Given the description of an element on the screen output the (x, y) to click on. 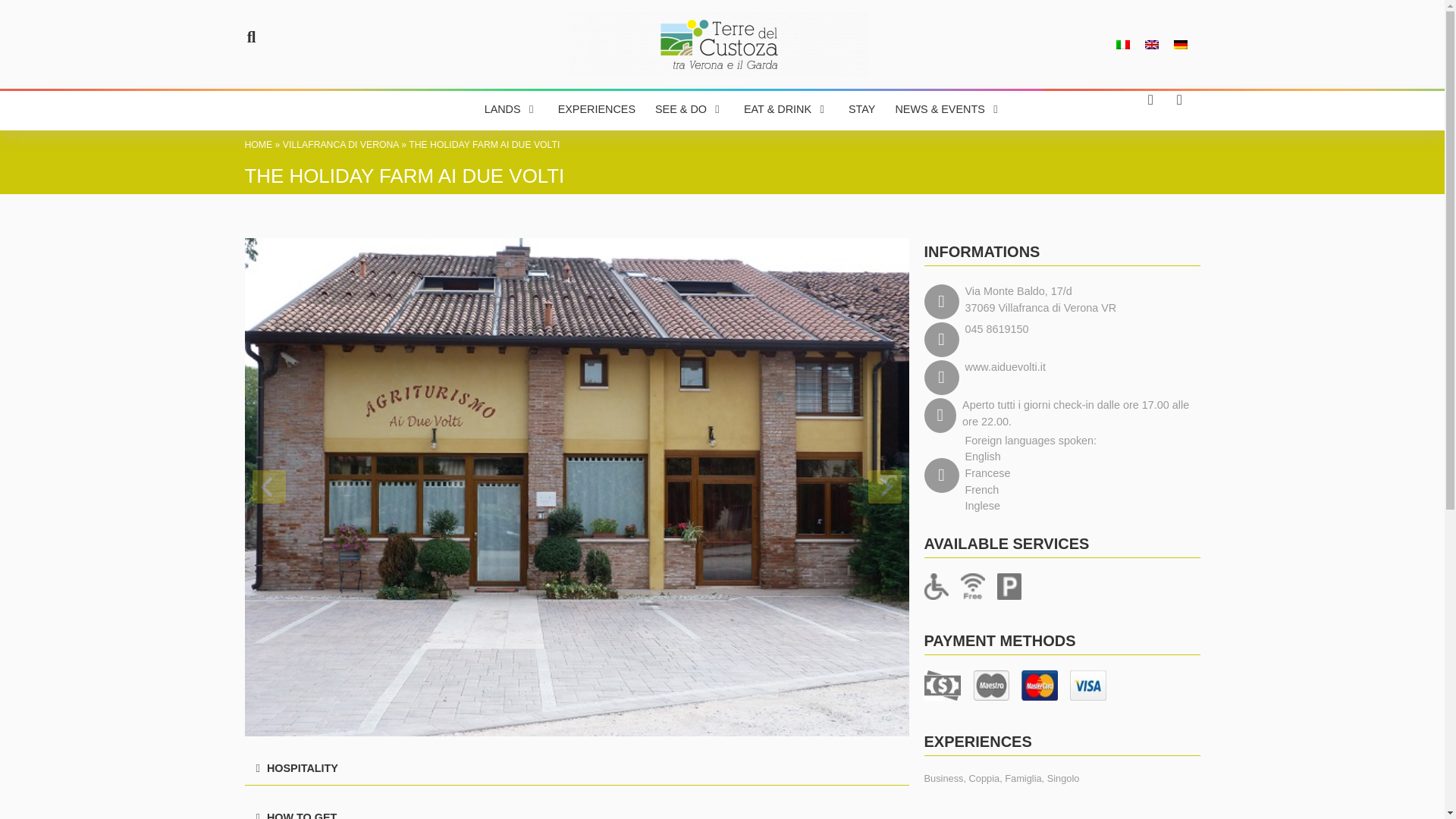
Cash (941, 685)
Maestro (990, 685)
LANDS (502, 109)
EXPERIENCES (595, 109)
045 8619150 (995, 329)
Access for disabled (935, 586)
STAY (861, 109)
Visa (1086, 685)
free wi-fi (971, 586)
HOSPITALITY (301, 767)
